Given the description of an element on the screen output the (x, y) to click on. 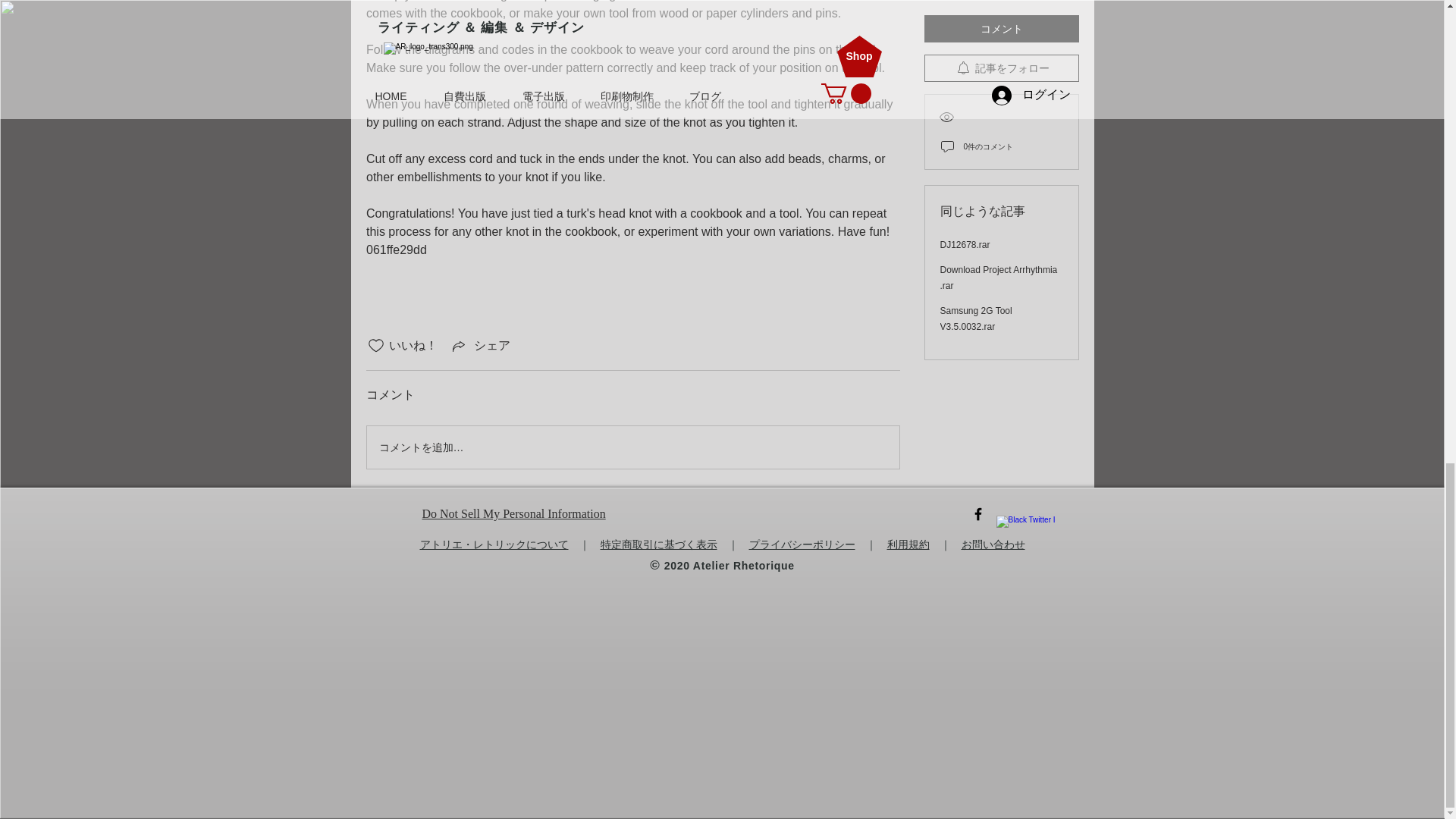
Do Not Sell My Personal Information (513, 514)
